Given the description of an element on the screen output the (x, y) to click on. 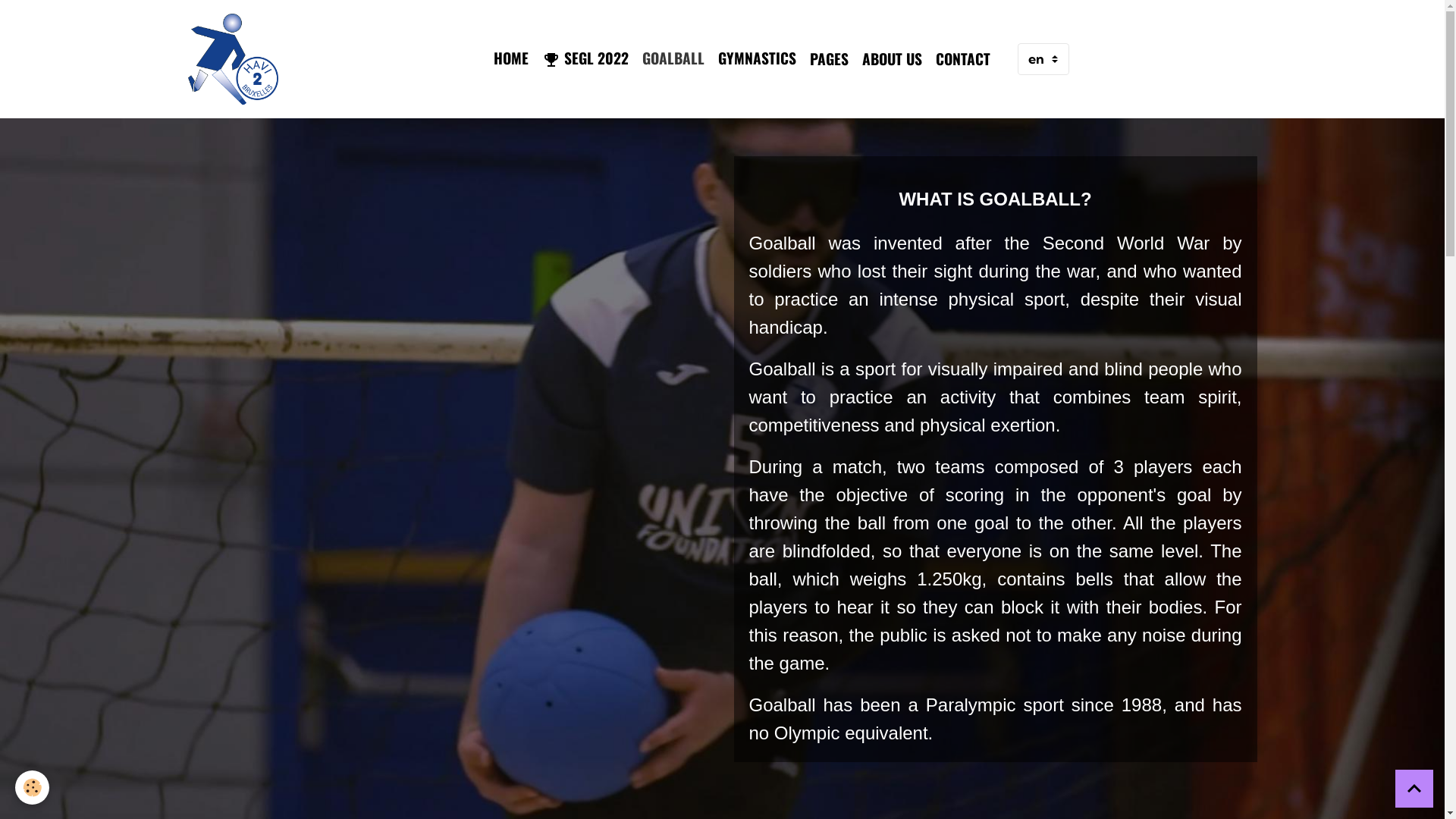
GYMNASTICS Element type: text (757, 57)
SEGL 2022 Element type: text (585, 58)
GOALBALL Element type: text (673, 57)
YouTube video player Element type: hover (449, 459)
CONTACT Element type: text (962, 58)
HOME Element type: text (510, 57)
ABOUT US Element type: text (891, 58)
PAGES Element type: text (829, 58)
